Given the description of an element on the screen output the (x, y) to click on. 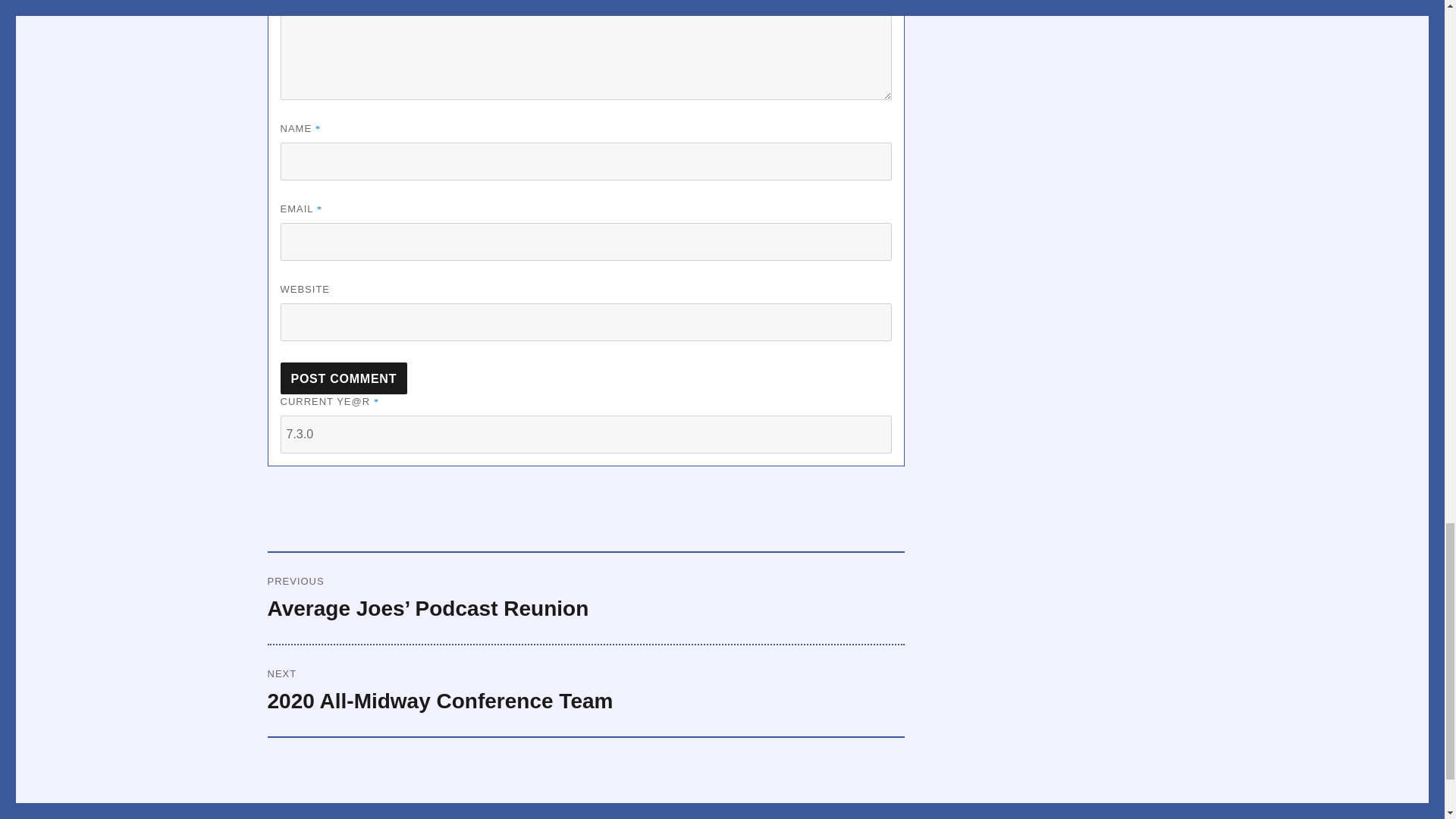
Post Comment (344, 377)
7.3.0 (586, 434)
